Given the description of an element on the screen output the (x, y) to click on. 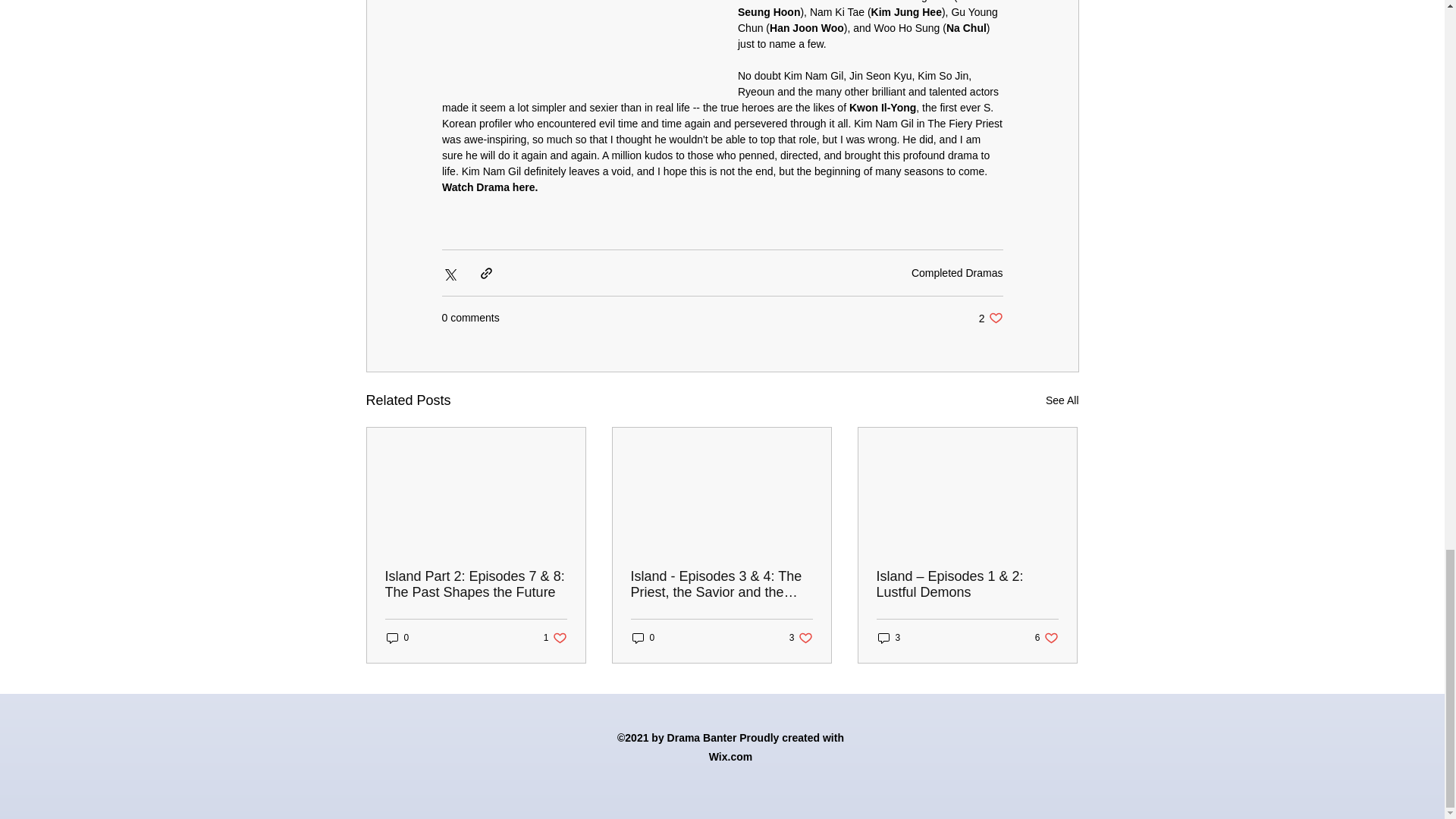
Completed Dramas (957, 272)
0 (397, 637)
See All (1061, 400)
0 (990, 318)
Watch Drama here. (643, 637)
Kwon Il-Yong (489, 186)
